Given the description of an element on the screen output the (x, y) to click on. 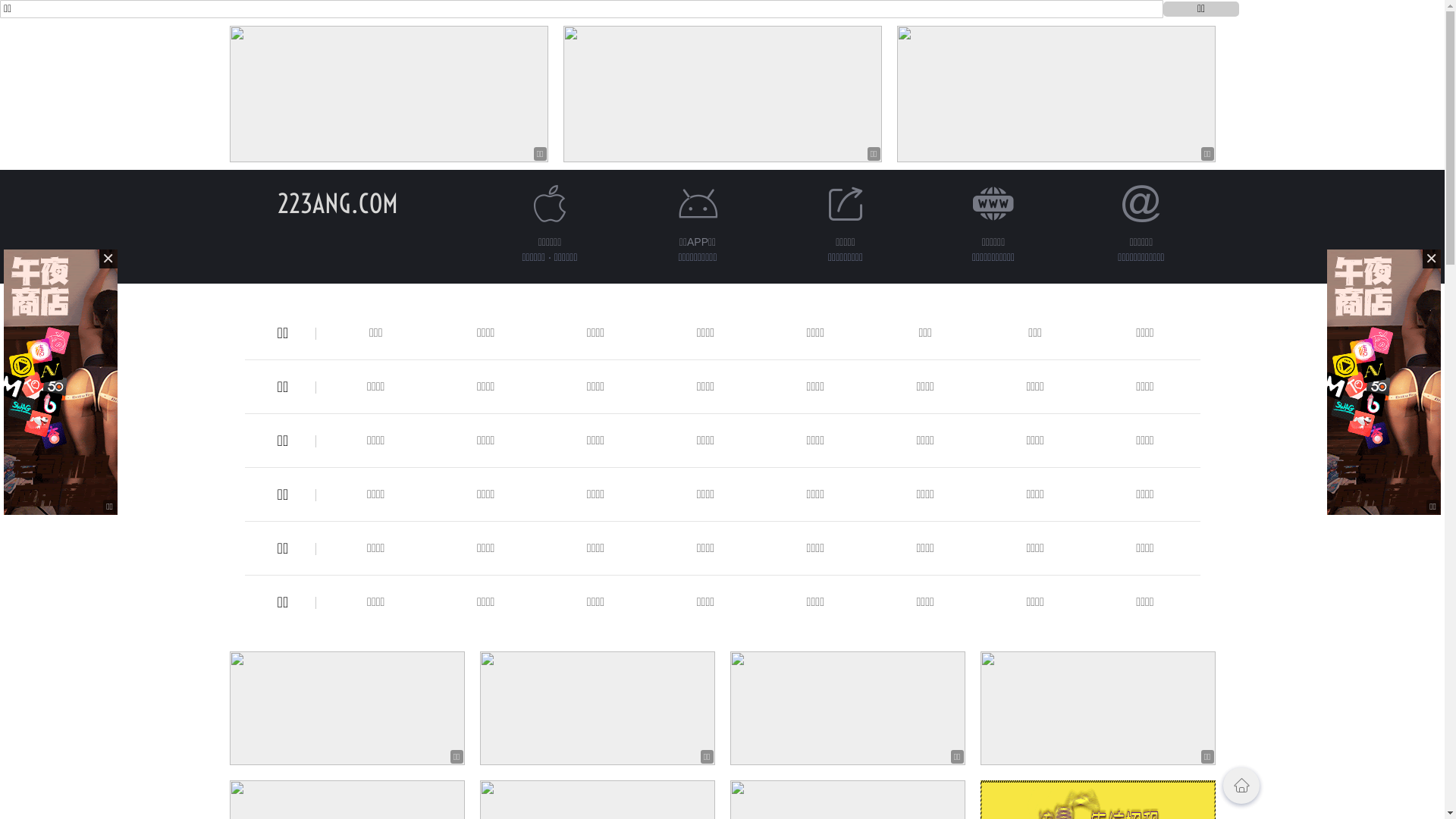
223ANG.COM Element type: text (337, 203)
